Given the description of an element on the screen output the (x, y) to click on. 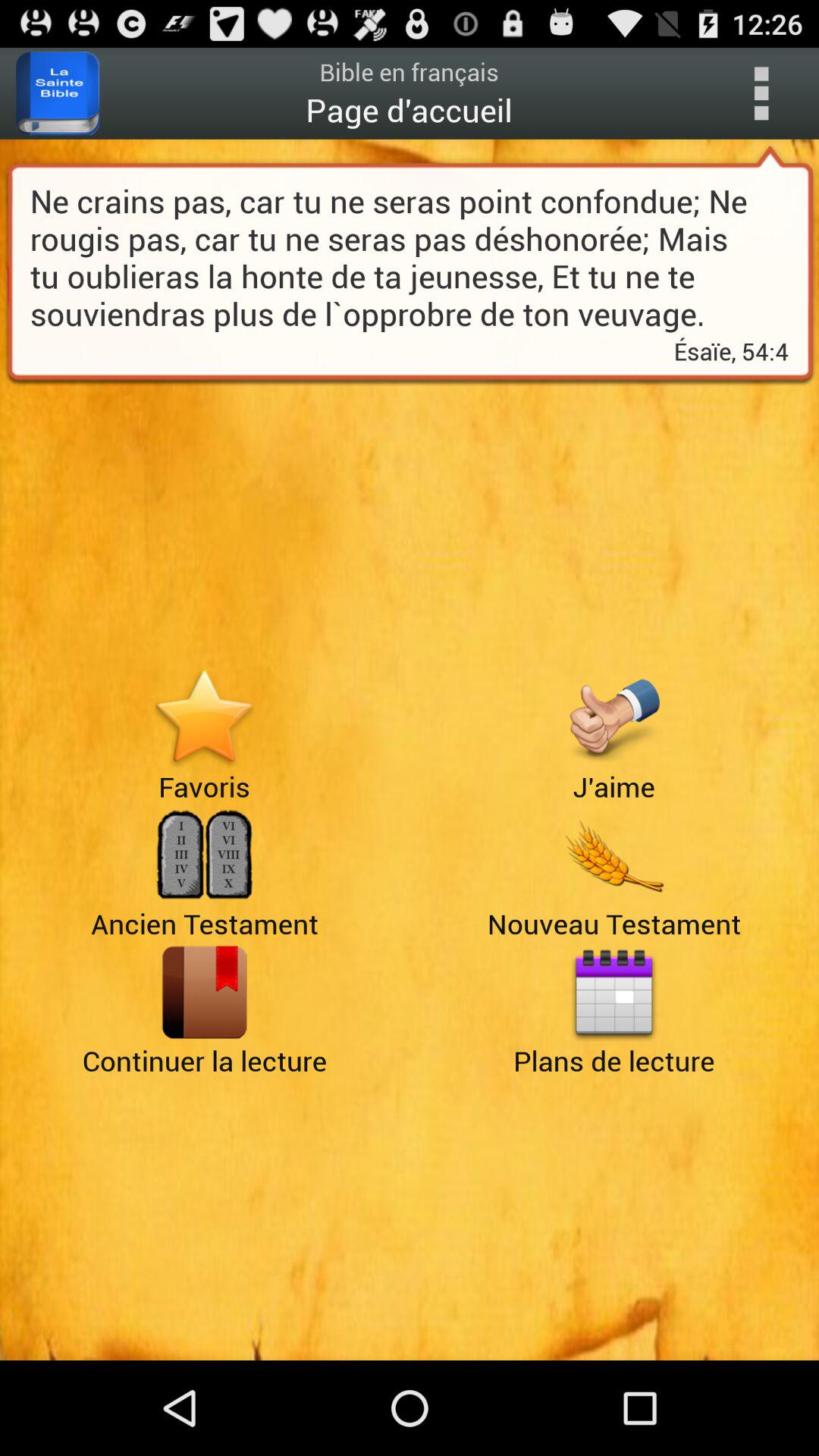
jaime (613, 717)
